Given the description of an element on the screen output the (x, y) to click on. 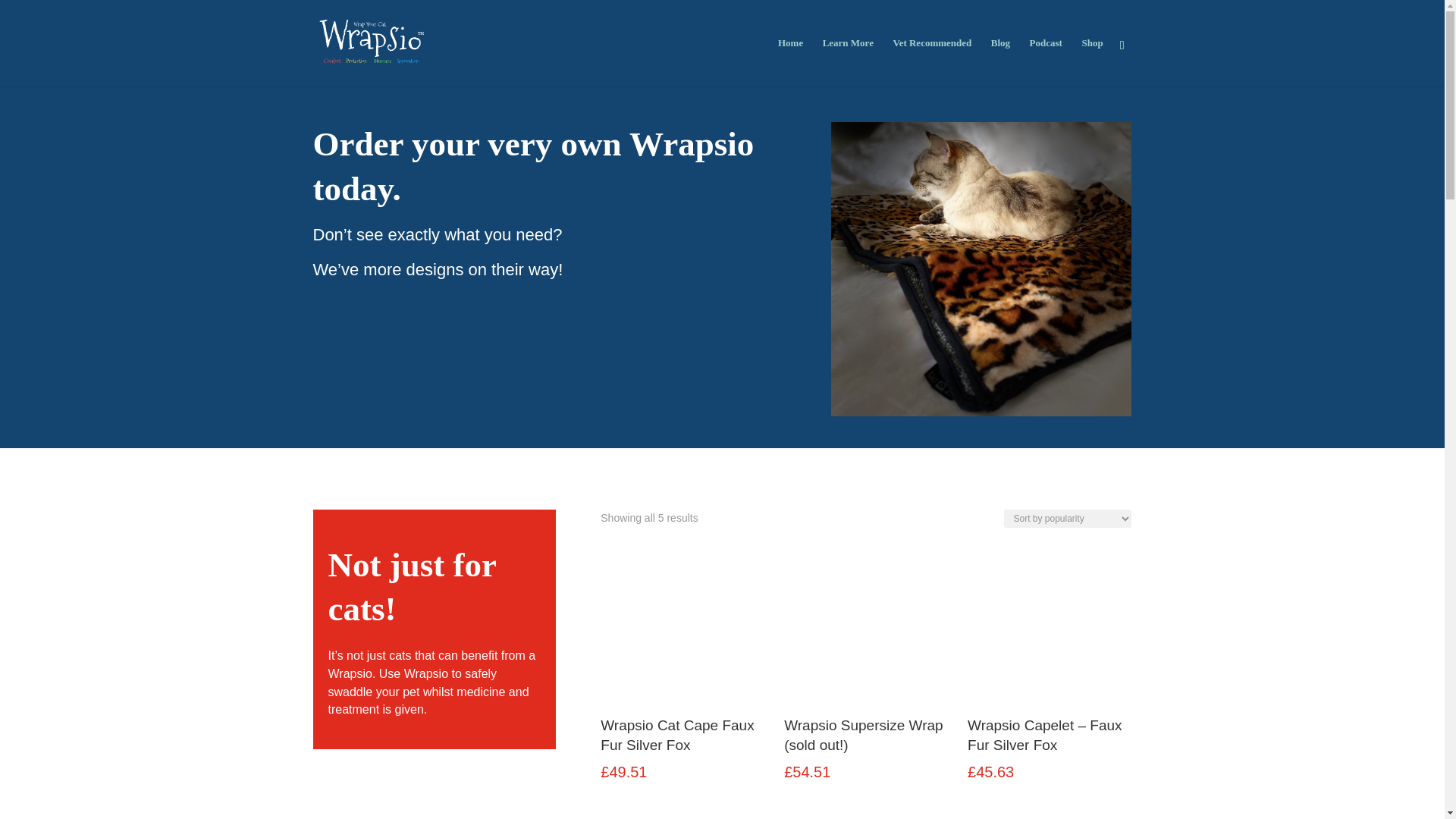
Ewok Wrapsio leopard close up (981, 269)
Vet Recommended (931, 61)
Coming soon! Wrapsio Poncho Wrap (865, 816)
Learn More (847, 61)
